Given the description of an element on the screen output the (x, y) to click on. 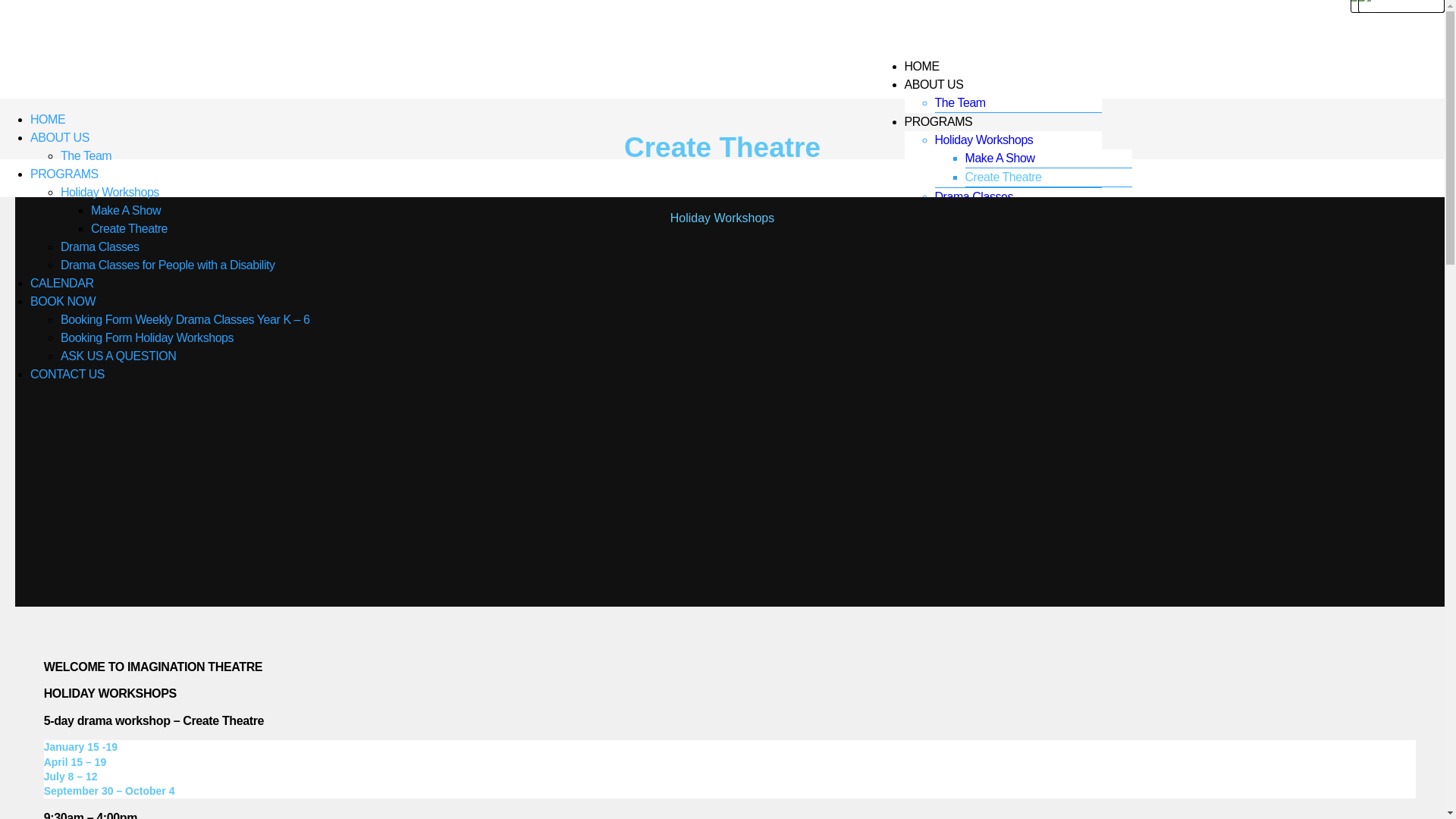
Make A Show Element type: text (125, 209)
Booking Form Holiday Workshops Element type: text (146, 337)
The Team Element type: text (959, 101)
HOME Element type: text (920, 65)
BOOK NOW Element type: text (936, 269)
PROGRAMS Element type: text (937, 121)
Create Theatre Element type: text (129, 228)
CALENDAR Element type: text (935, 251)
ABOUT US Element type: text (933, 83)
Drama Classes for People with a Disability Element type: text (1017, 224)
CONTACT US Element type: text (940, 382)
ASK US A QUESTION Element type: text (117, 355)
Drama Classes Element type: text (973, 195)
Holiday Workshops Element type: text (109, 191)
PROGRAMS Element type: text (64, 173)
HOME Element type: text (47, 118)
Create Theatre Element type: text (1002, 175)
Holiday Workshops Element type: text (983, 139)
Make A Show Element type: text (999, 157)
The Team Element type: text (85, 155)
CONTACT US Element type: text (67, 373)
ASK US A QUESTION Element type: text (991, 362)
BOOK NOW Element type: text (62, 300)
Drama Classes for People with a Disability Element type: text (167, 264)
Drama Classes Element type: text (99, 246)
CALENDAR Element type: text (62, 282)
Booking Form Holiday Workshops Element type: text (990, 335)
ABOUT US Element type: text (59, 137)
